Given the description of an element on the screen output the (x, y) to click on. 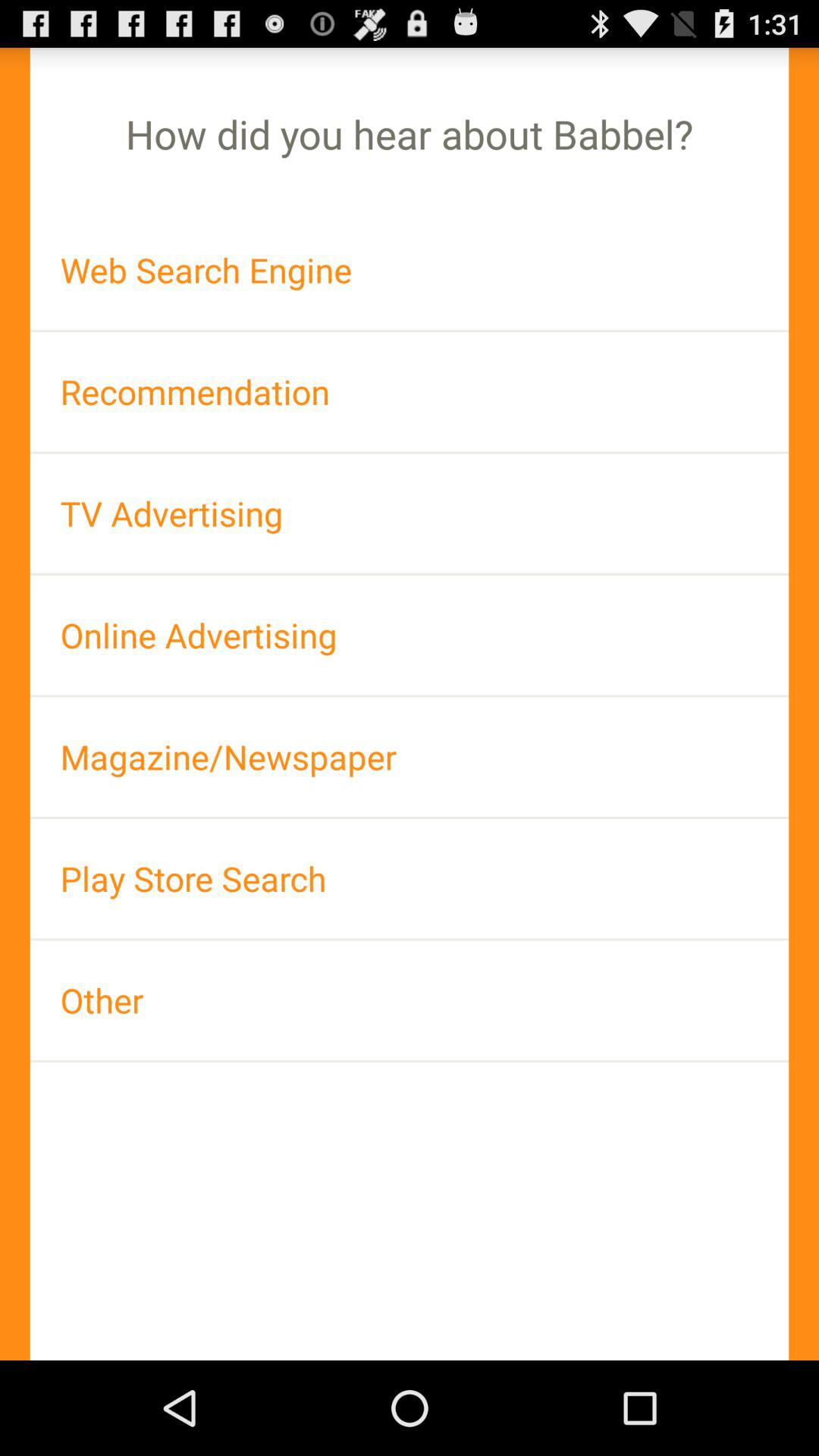
launch the app below recommendation (409, 513)
